Given the description of an element on the screen output the (x, y) to click on. 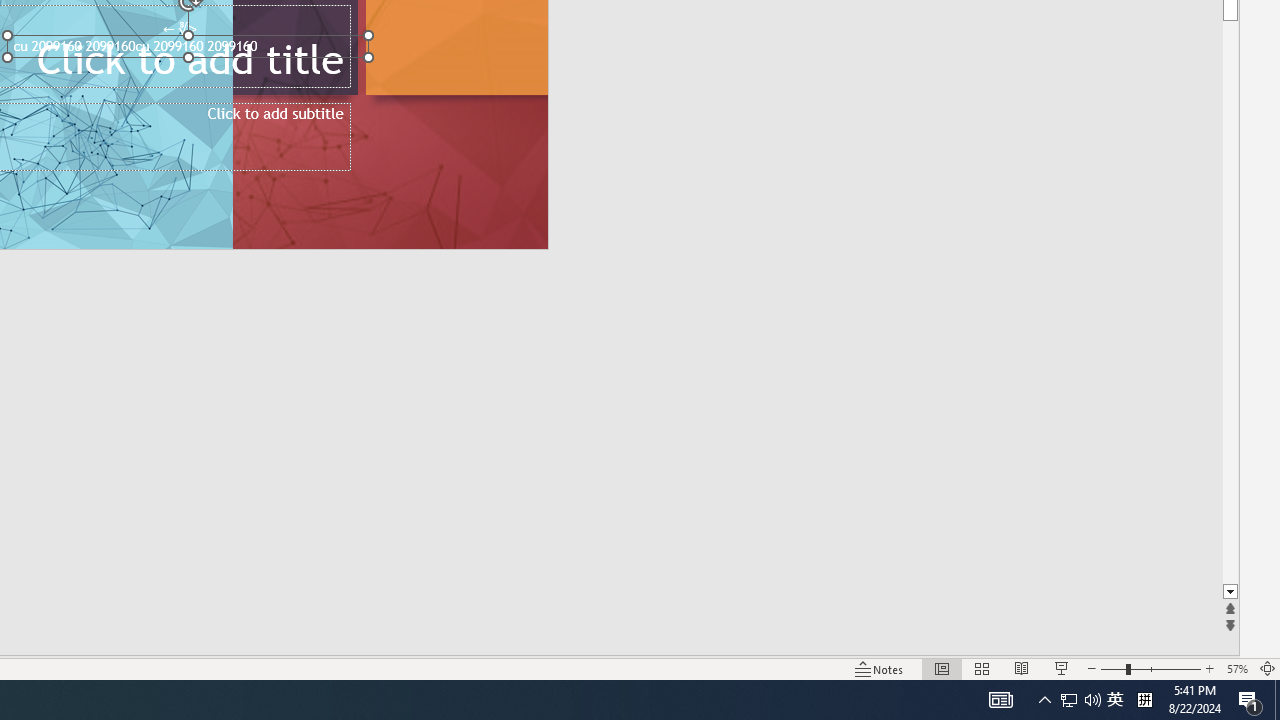
TextBox 61 (186, 48)
Zoom 57% (1236, 668)
TextBox 7 (179, 29)
